Given the description of an element on the screen output the (x, y) to click on. 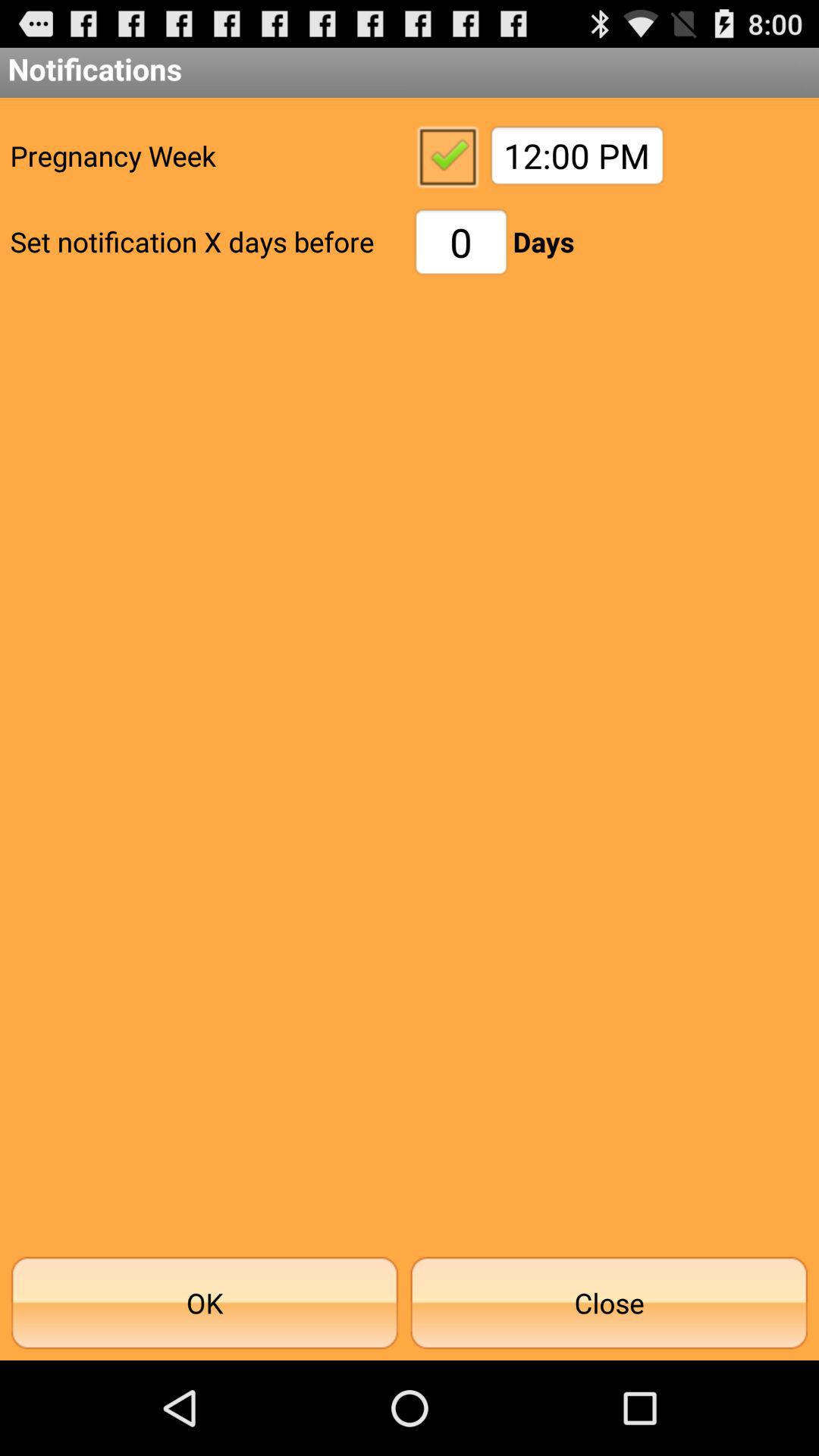
choose the button to the right of ok icon (608, 1302)
